Given the description of an element on the screen output the (x, y) to click on. 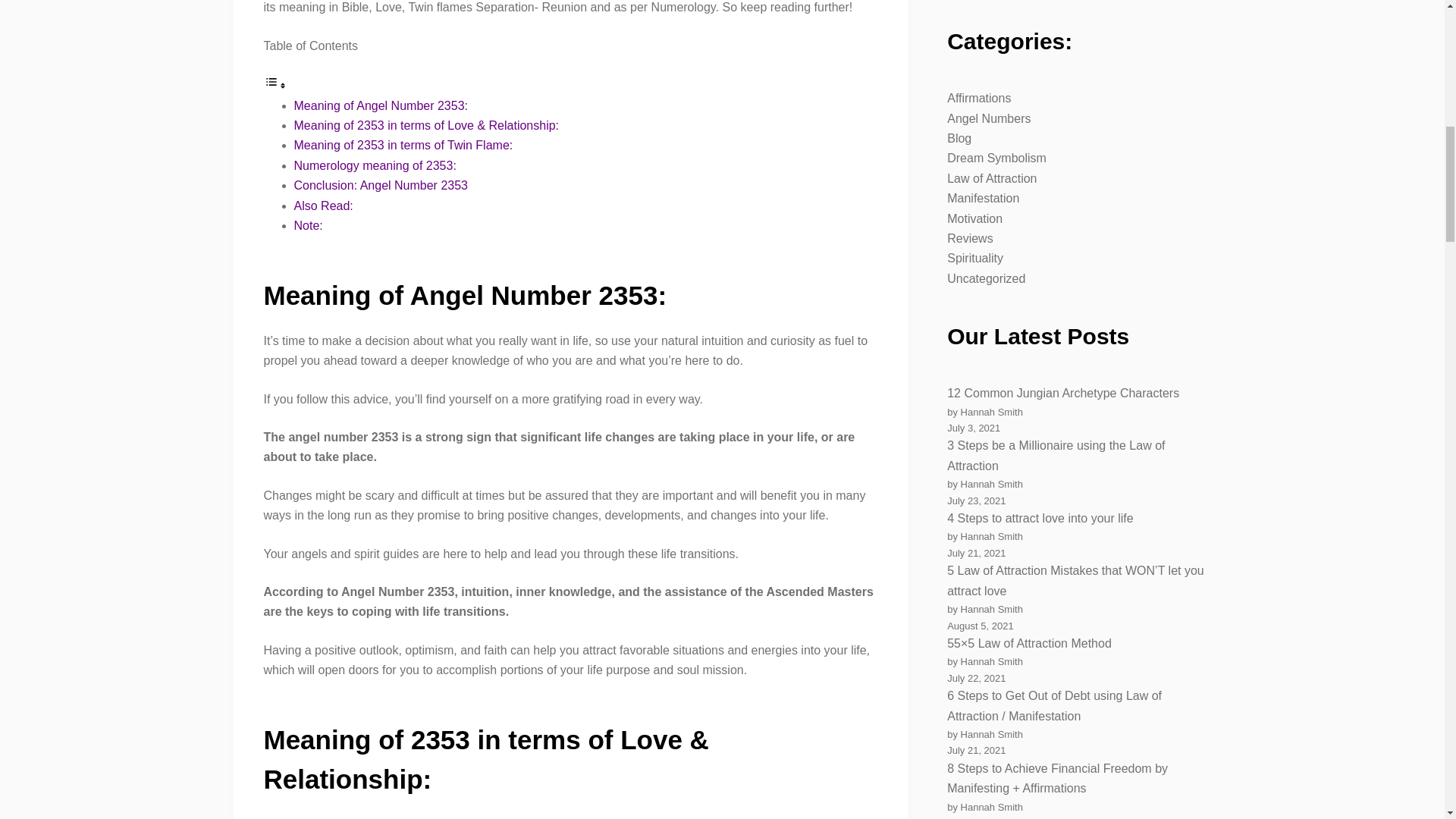
Note: (308, 225)
Also Read: (323, 205)
Numerology meaning of 2353: (375, 164)
Meaning of Angel Number 2353: (380, 105)
Conclusion: Angel Number 2353 (380, 185)
Meaning of 2353 in terms of Twin Flame: (403, 144)
